Given the description of an element on the screen output the (x, y) to click on. 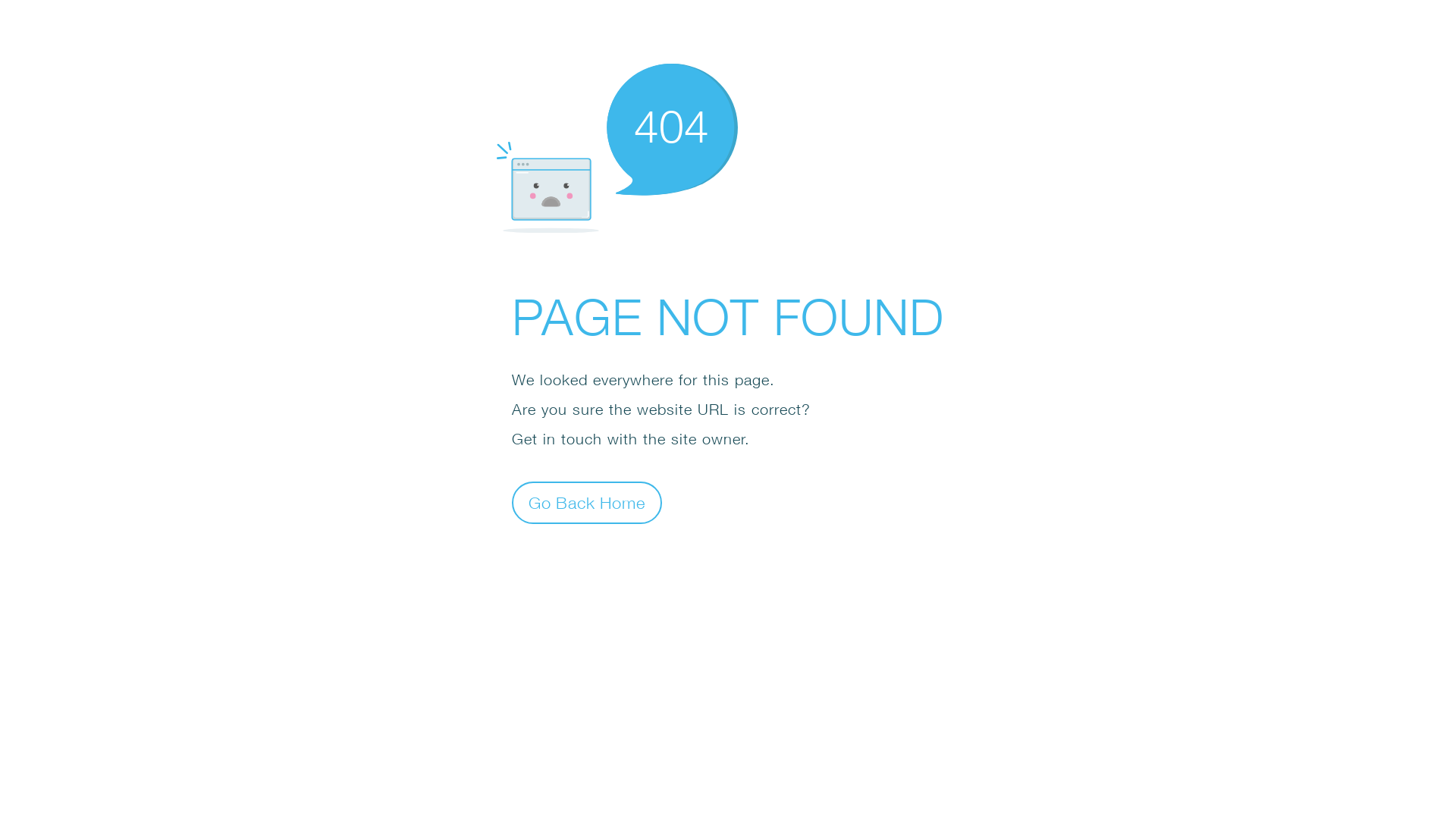
Go Back Home Element type: text (586, 502)
